Given the description of an element on the screen output the (x, y) to click on. 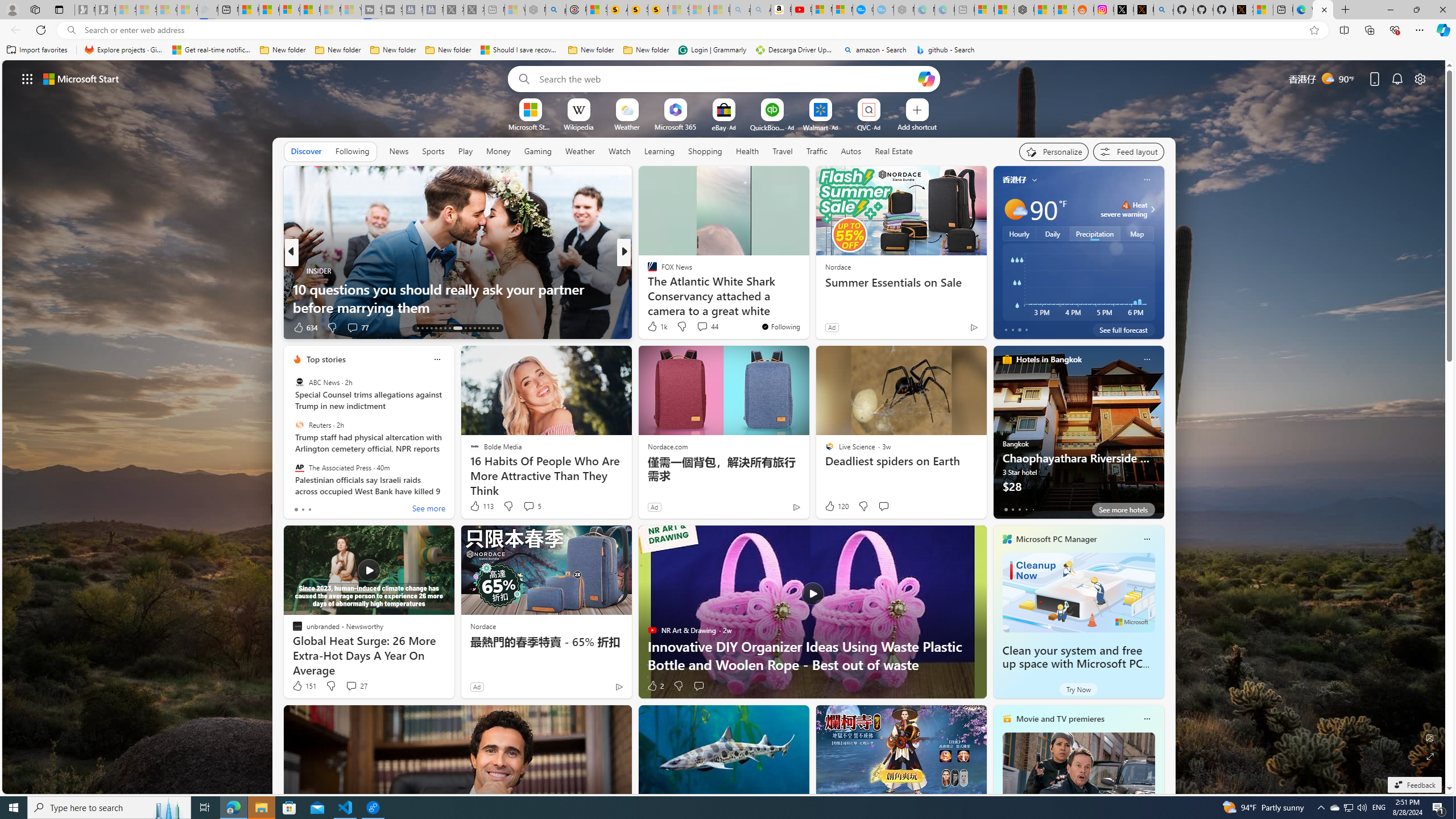
The most popular Google 'how to' searches - Sleeping (882, 9)
View comments 1 Comment (705, 327)
hotels-header-icon (1006, 358)
tab-2 (1019, 509)
113 Like (480, 505)
